Given the description of an element on the screen output the (x, y) to click on. 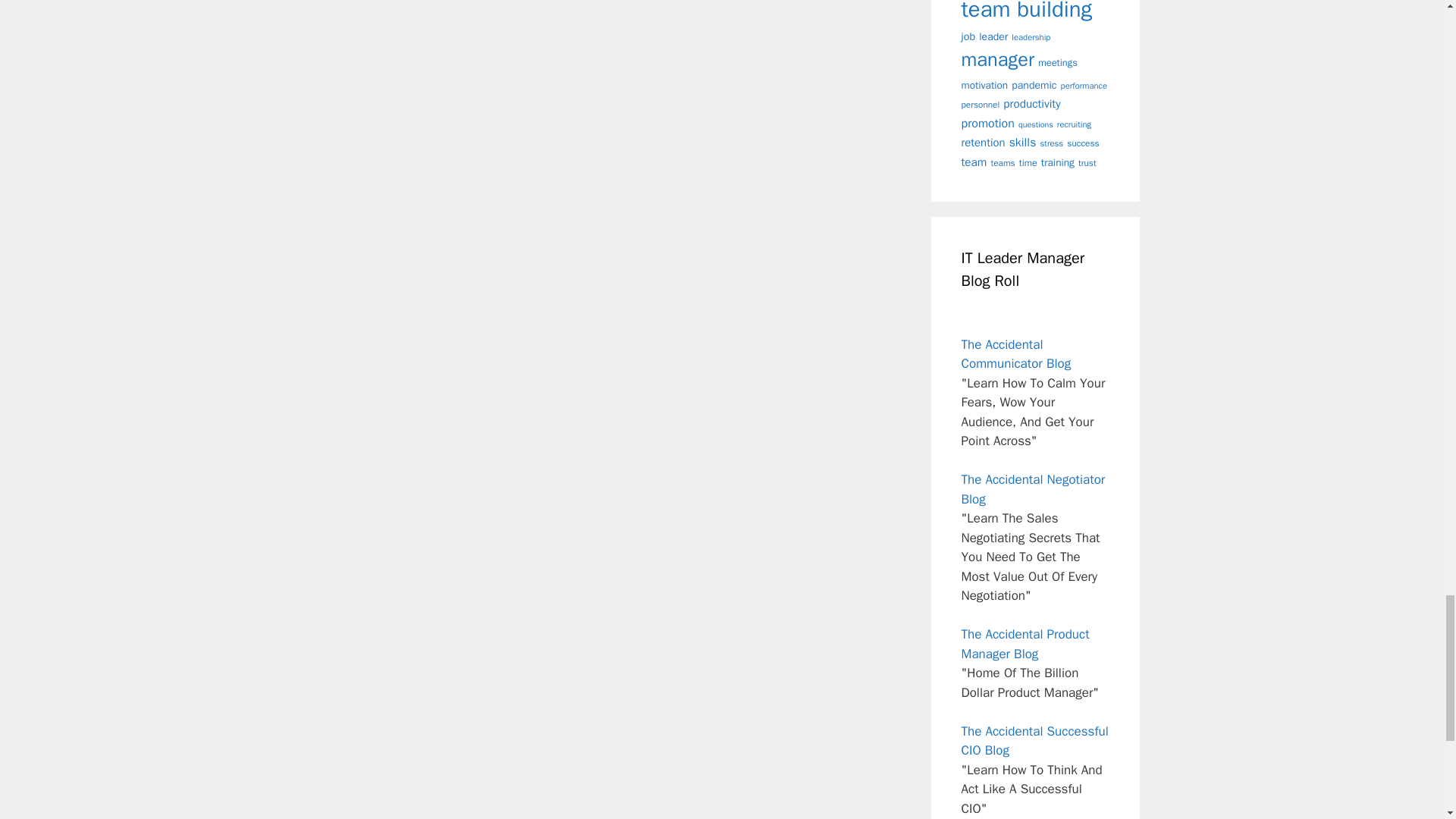
The Accidental Communicator Blog (1015, 354)
The Accidental Negotiator Blog (1032, 488)
The Accidental Product Manager Blog (1024, 643)
